Given the description of an element on the screen output the (x, y) to click on. 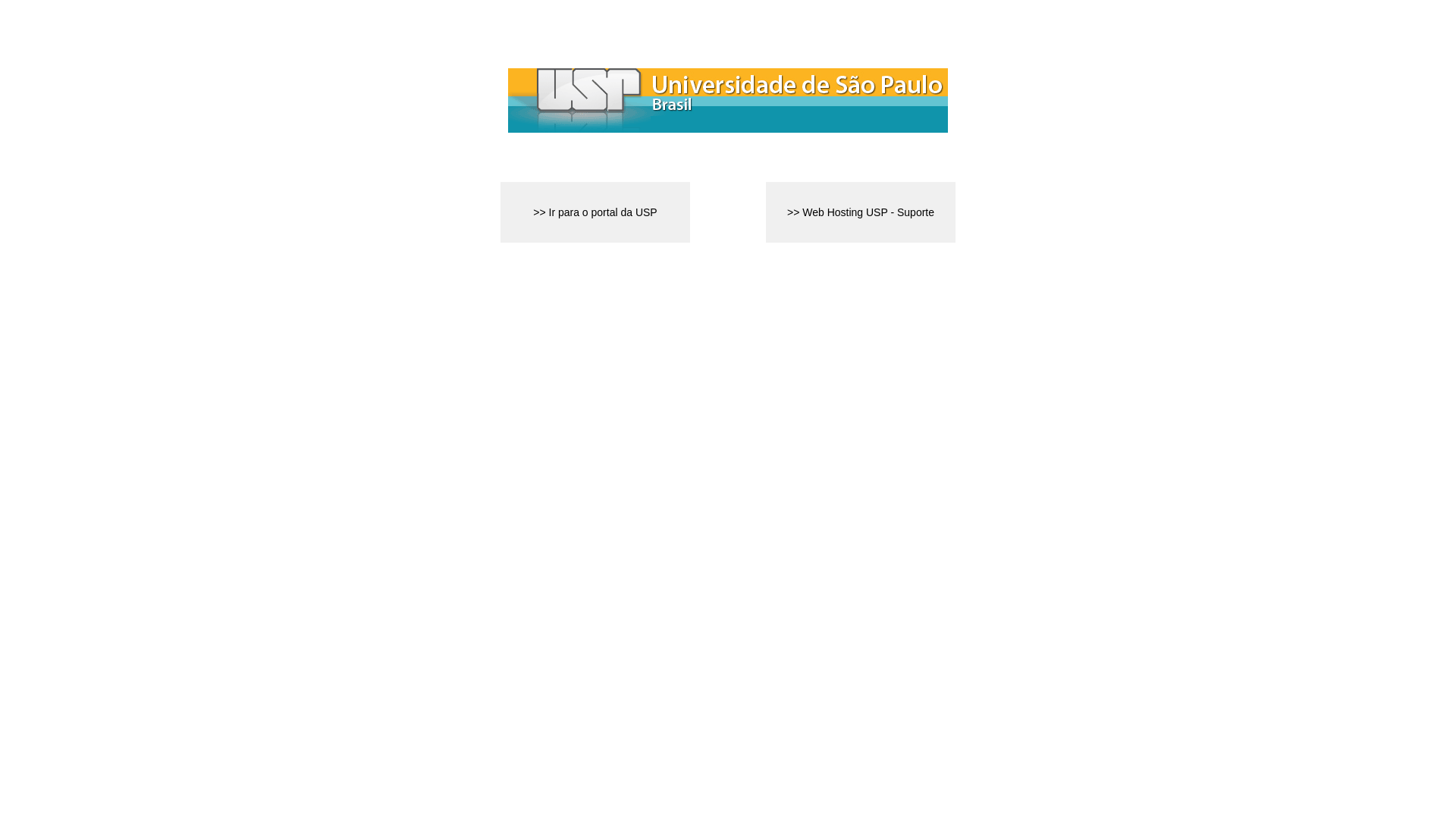
>> Ir para o portal da USP Element type: text (595, 212)
>> Web Hosting USP - Suporte Element type: text (860, 212)
